Given the description of an element on the screen output the (x, y) to click on. 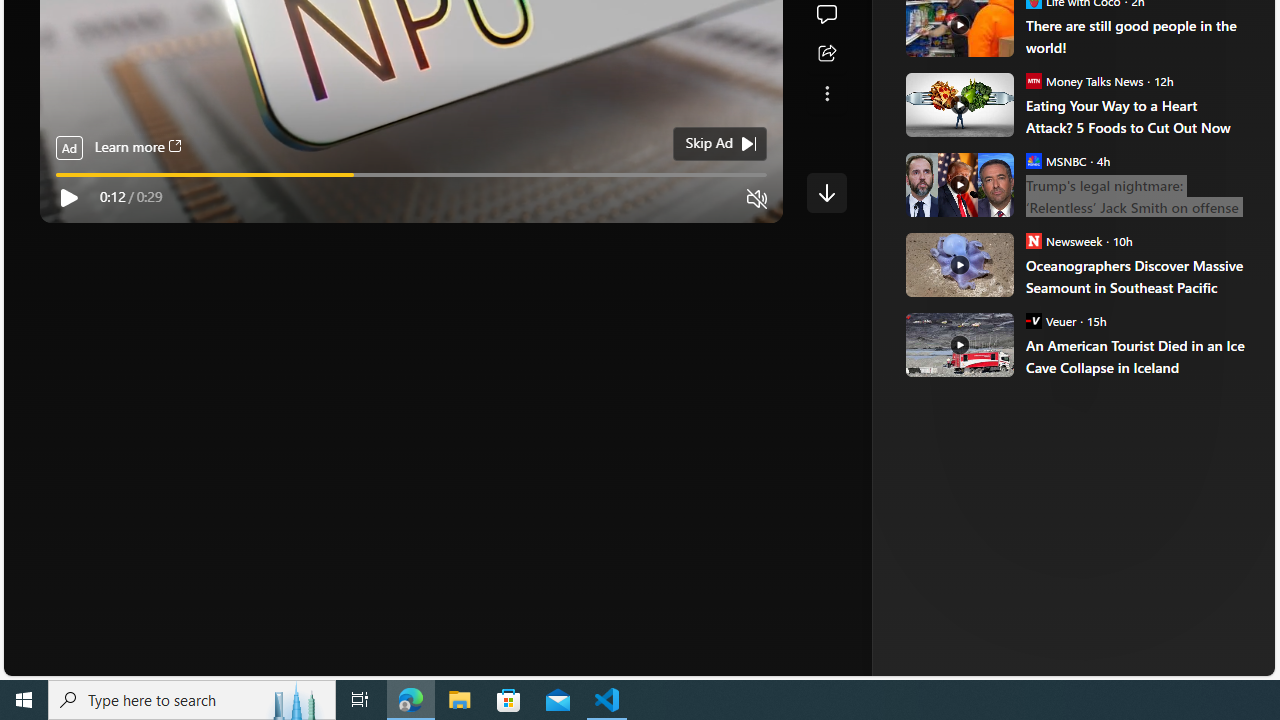
Share this story (826, 53)
Eating Your Way to a Heart Attack? 5 Foods to Cut Out Now (958, 104)
Veuer (1033, 320)
Play (68, 197)
Veuer Veuer (1050, 320)
Eating Your Way to a Heart Attack? 5 Foods to Cut Out Now (1136, 116)
Ad Choice (1212, 336)
Money Talks News (1033, 80)
Newsweek Newsweek (1064, 240)
Feedback (1199, 659)
